Given the description of an element on the screen output the (x, y) to click on. 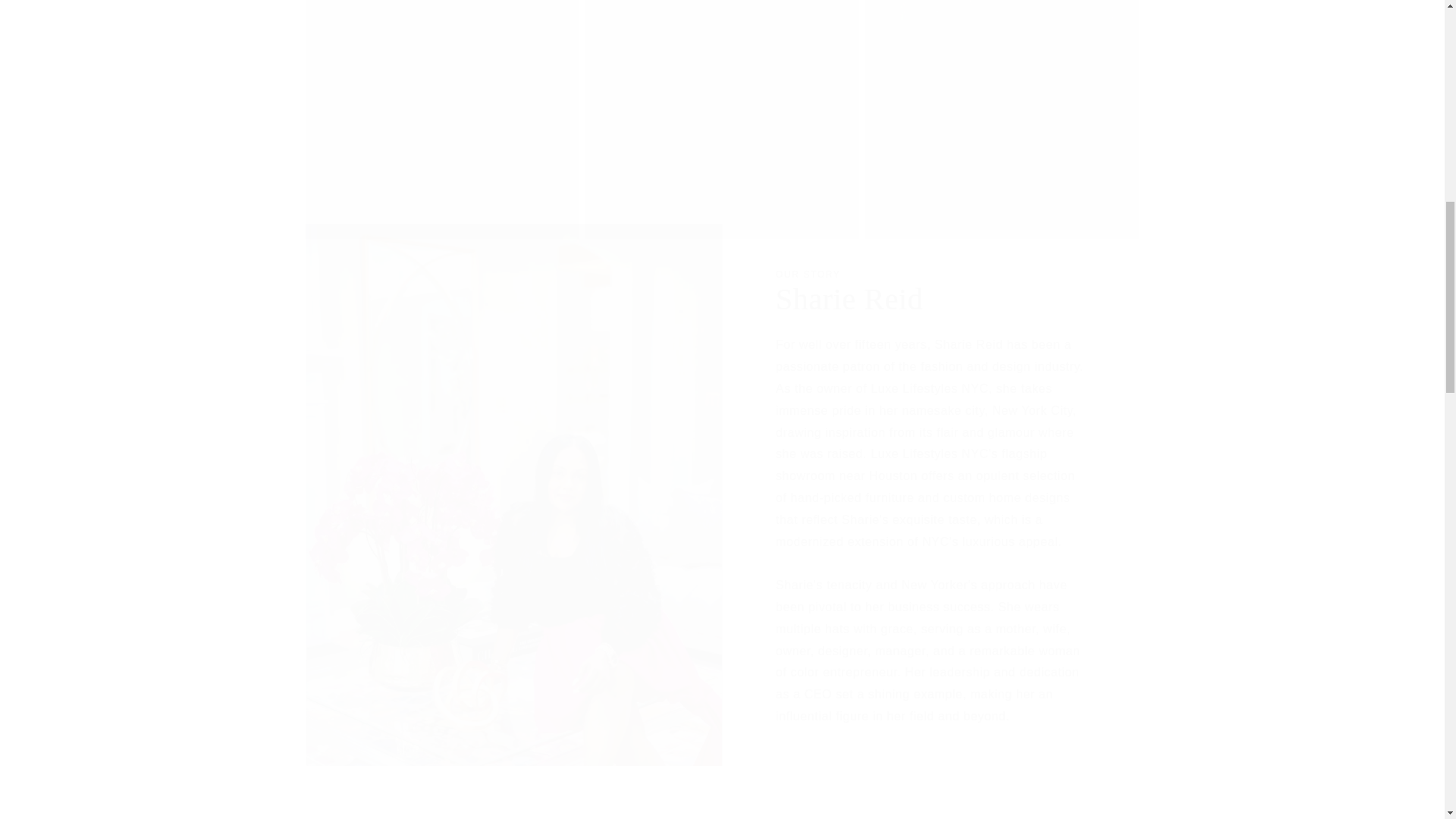
Gallery (721, 815)
